Given the description of an element on the screen output the (x, y) to click on. 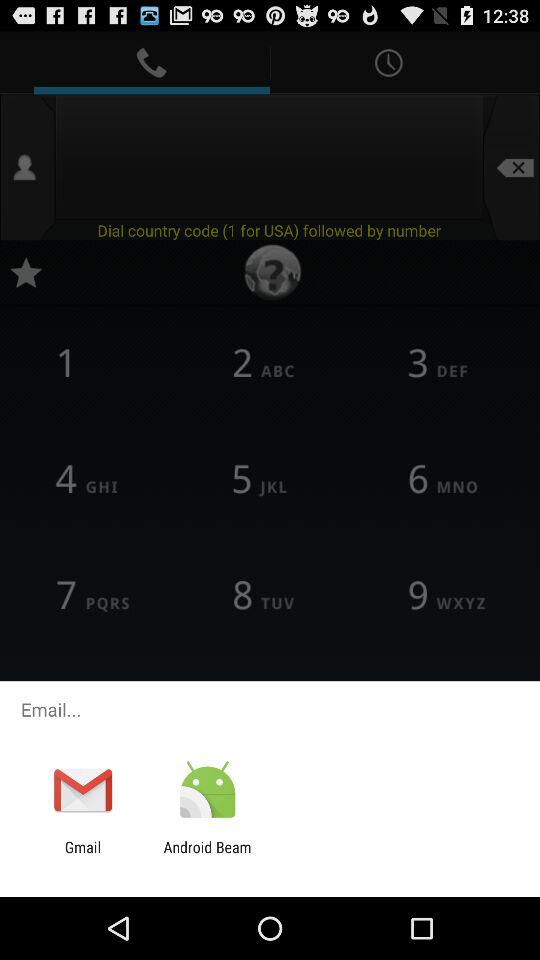
select the android beam app (207, 856)
